Given the description of an element on the screen output the (x, y) to click on. 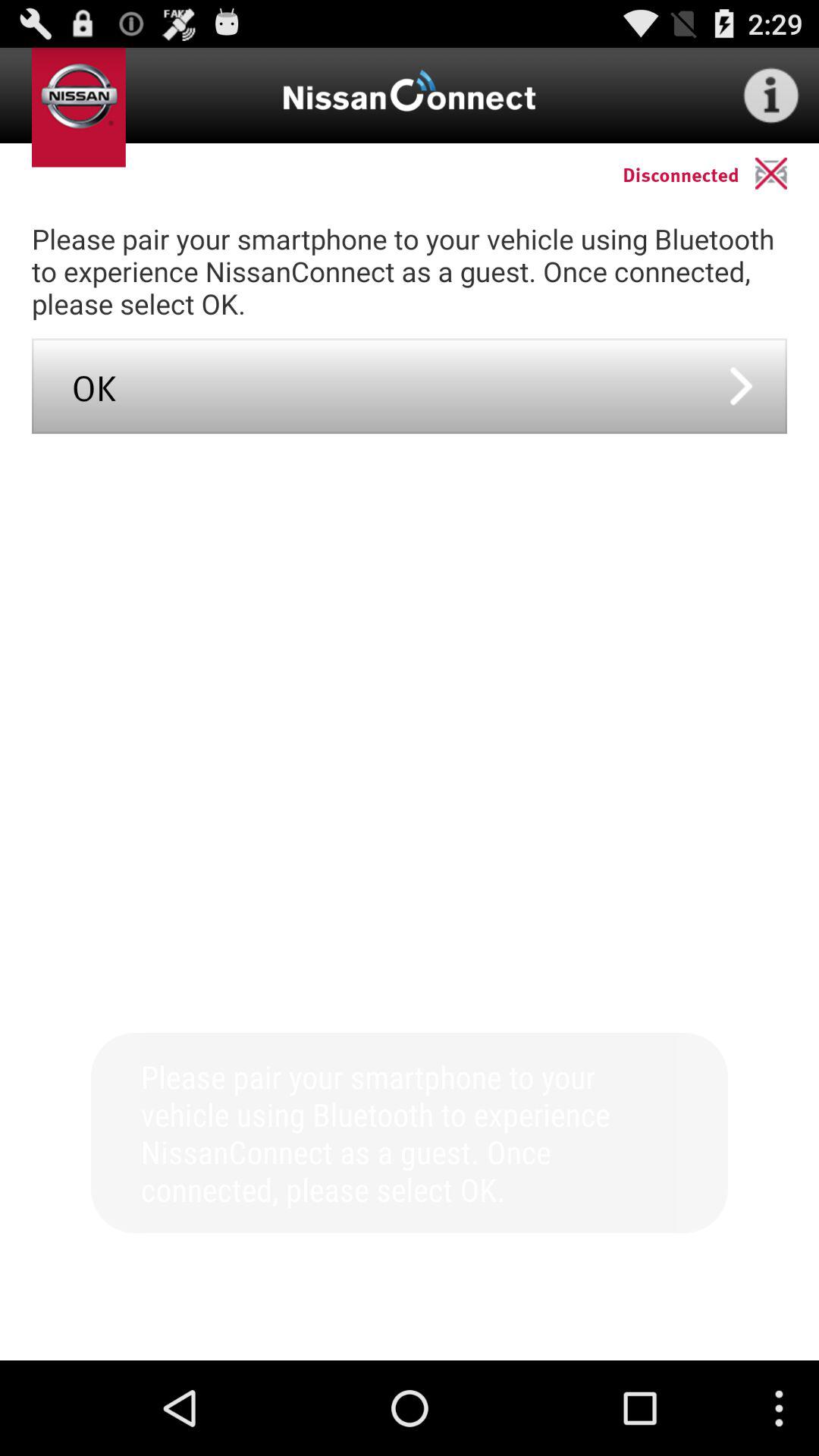
select the icon above disconnected item (771, 95)
